Given the description of an element on the screen output the (x, y) to click on. 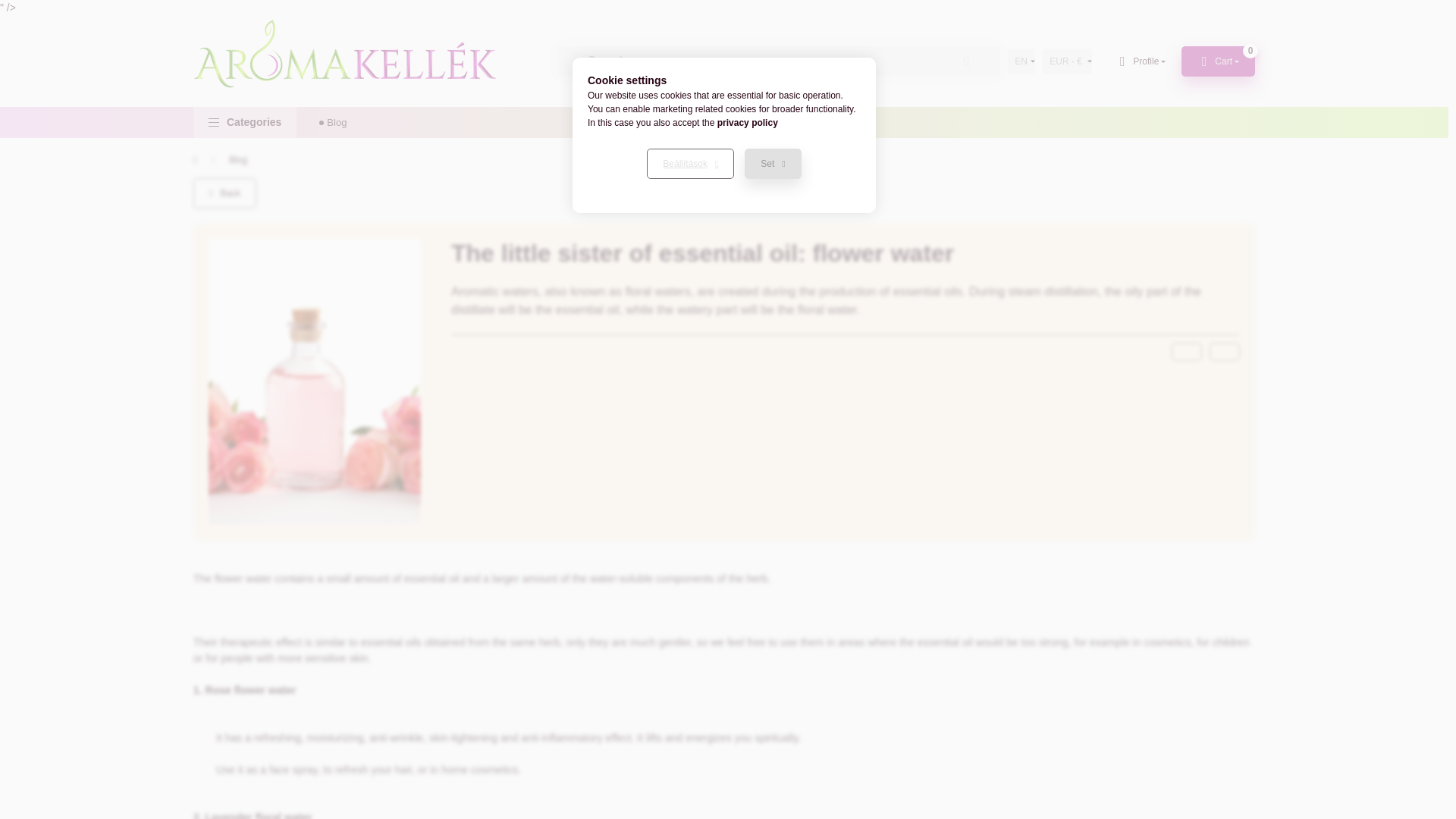
Search (966, 61)
Blog (237, 160)
Profile (1139, 60)
Categories (1217, 60)
Enter a longer search term! (245, 122)
Blog (778, 60)
